Given the description of an element on the screen output the (x, y) to click on. 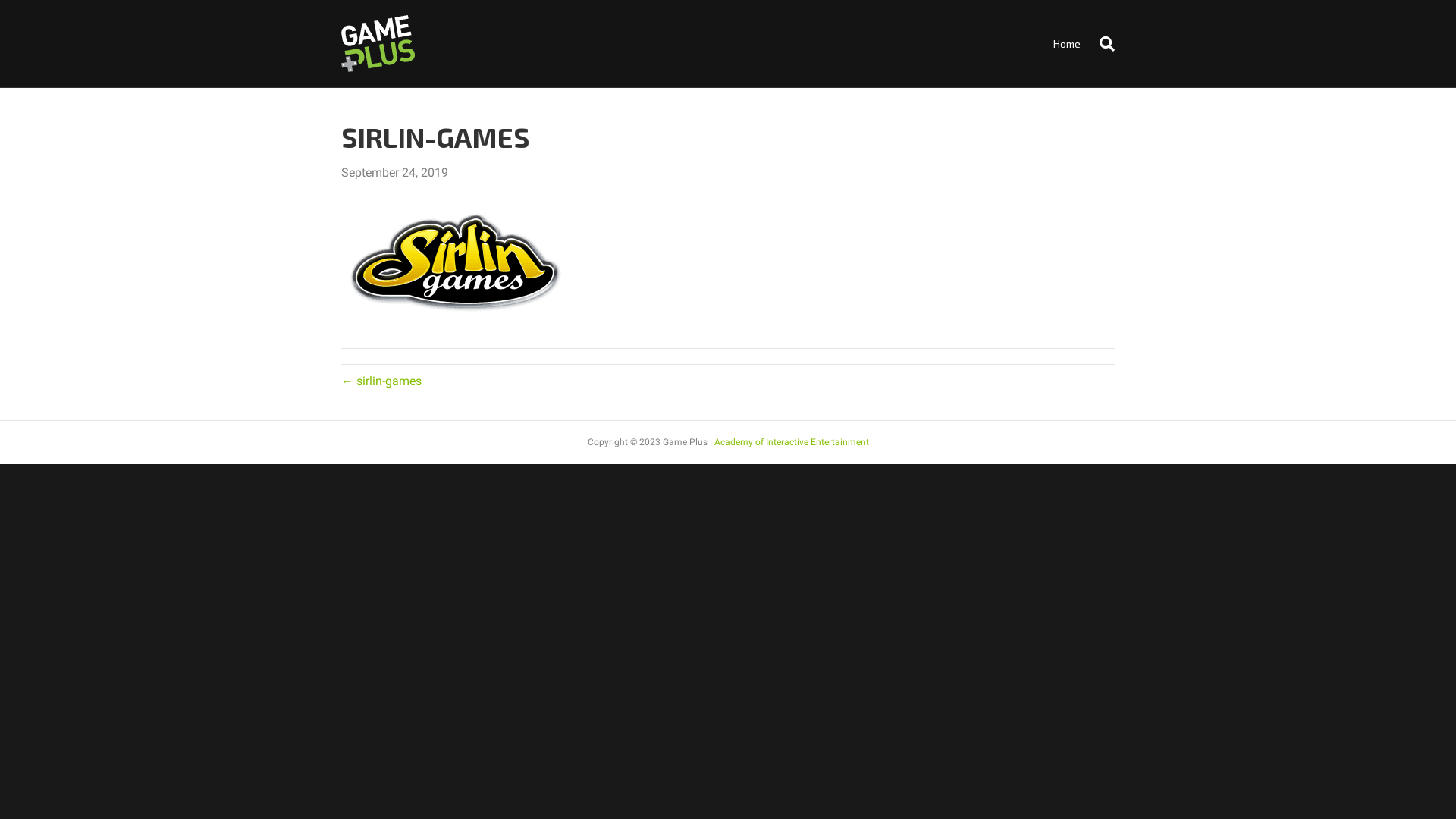
Academy of Interactive Entertainment Element type: text (791, 441)
Home Element type: text (1066, 43)
